Given the description of an element on the screen output the (x, y) to click on. 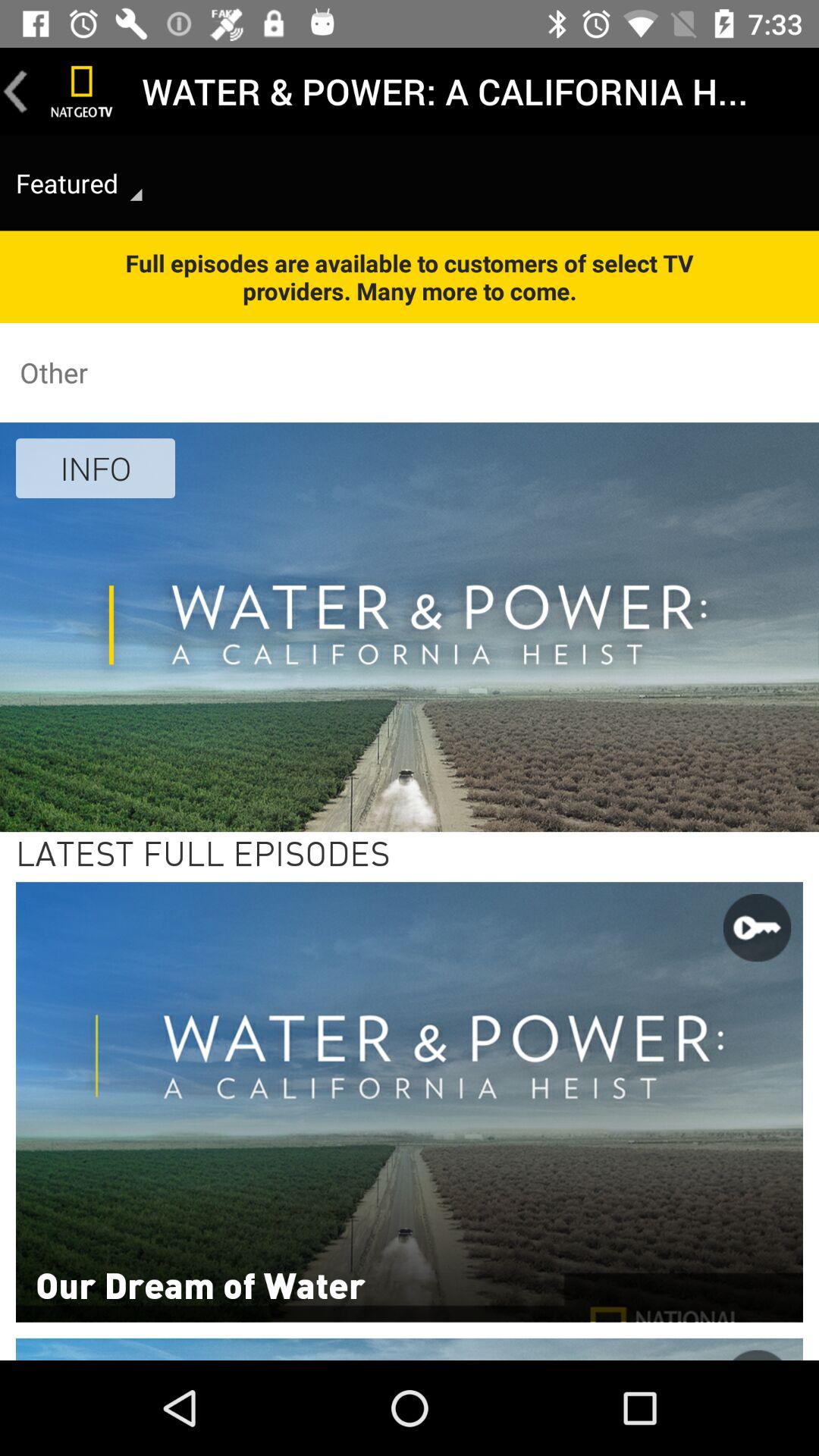
go to home page (81, 91)
